Given the description of an element on the screen output the (x, y) to click on. 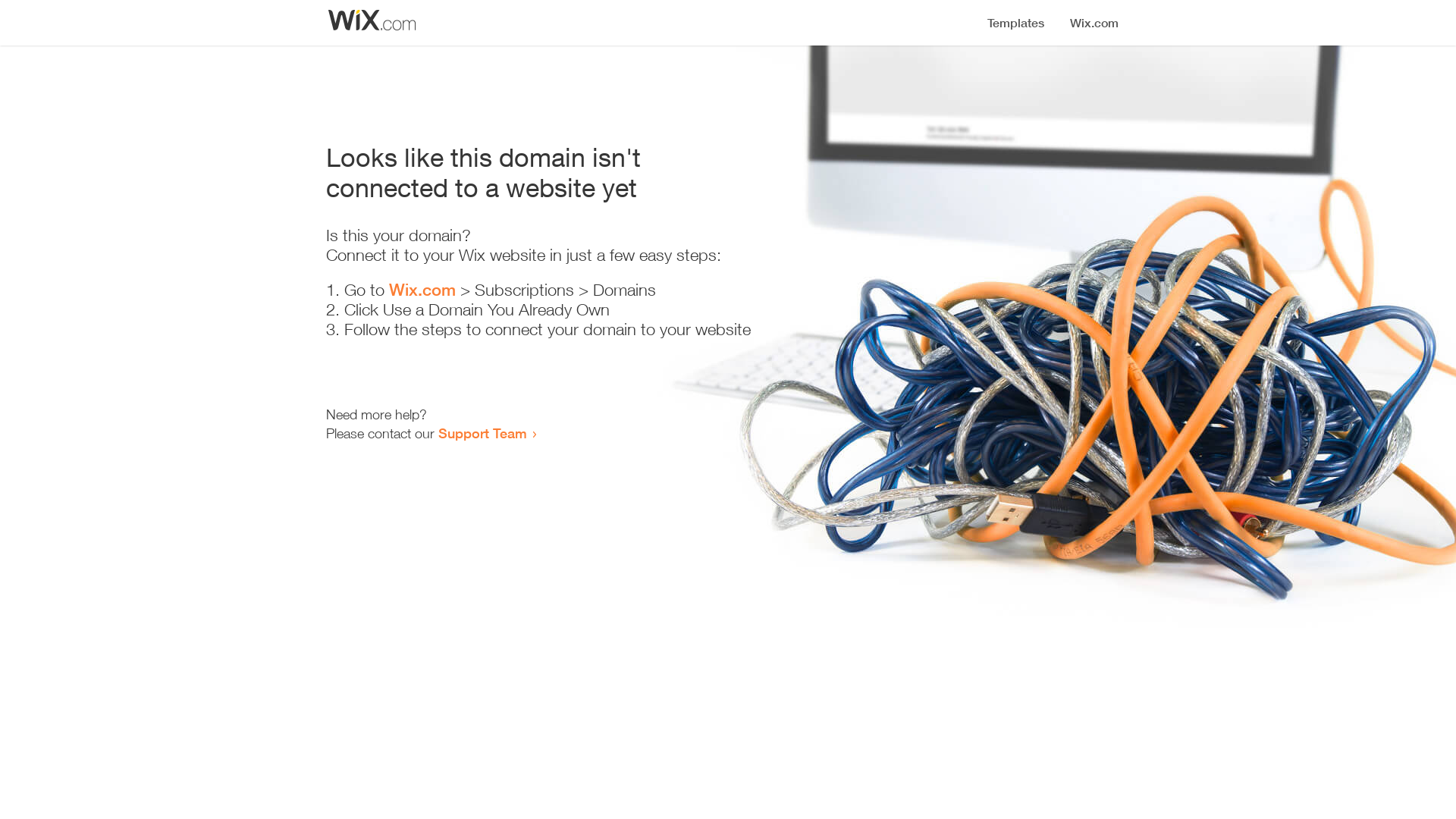
Support Team Element type: text (482, 432)
Wix.com Element type: text (422, 289)
